Given the description of an element on the screen output the (x, y) to click on. 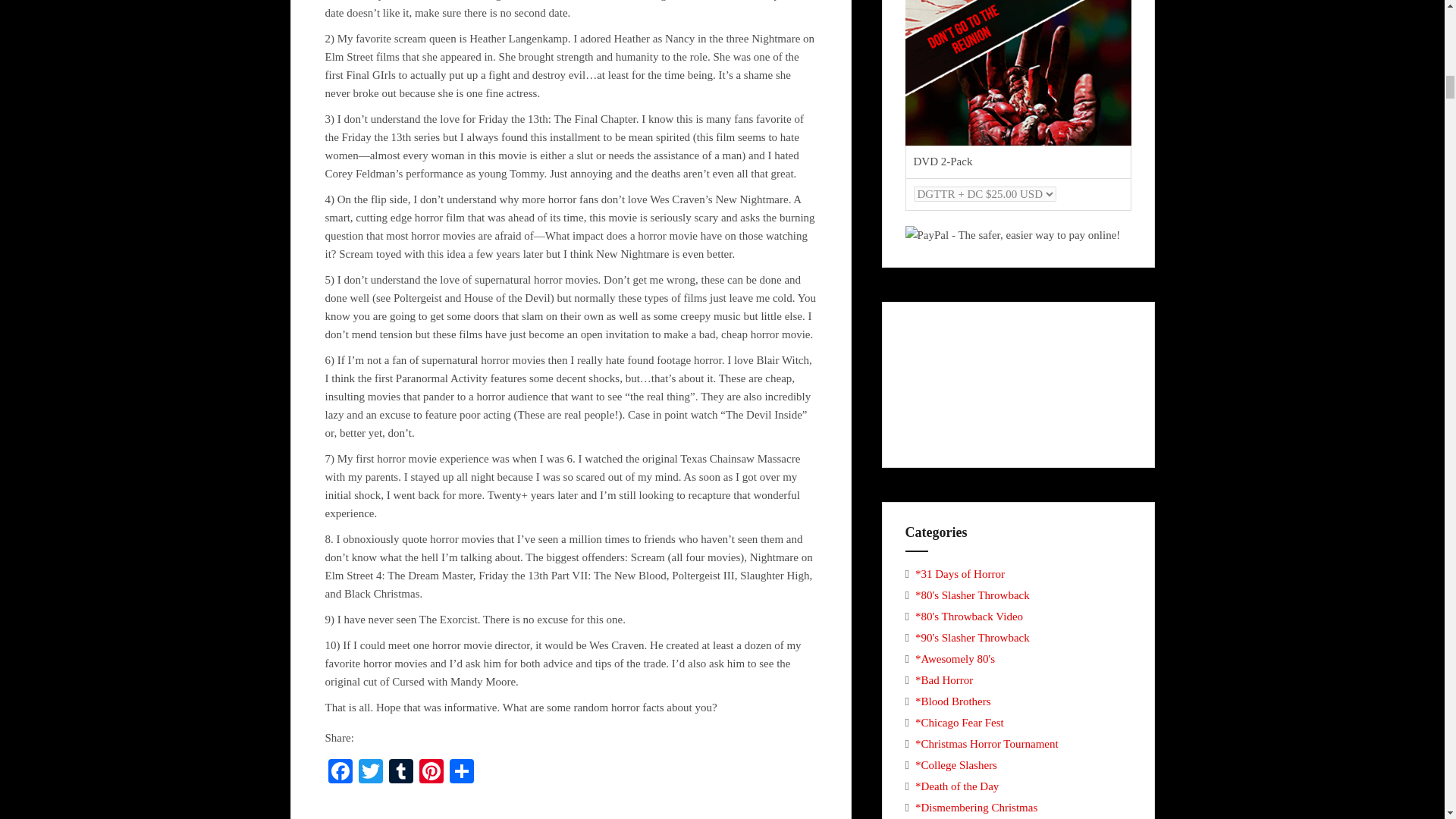
Twitter (370, 773)
Pinterest (429, 773)
Tumblr (399, 773)
Facebook (339, 773)
